Given the description of an element on the screen output the (x, y) to click on. 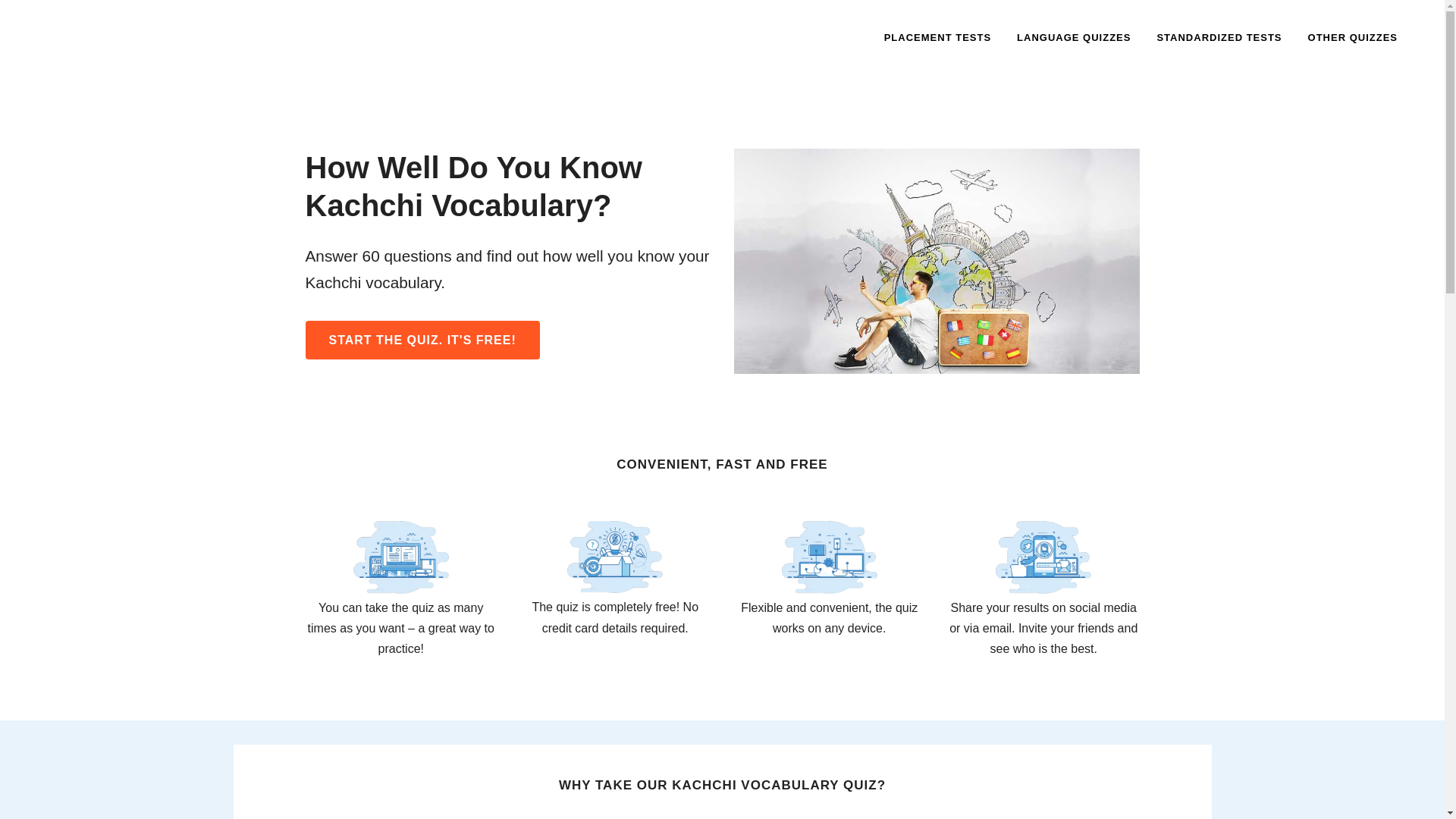
t4 (1042, 556)
t5 (829, 556)
PLACEMENT TESTS (937, 38)
t6 (614, 556)
LANGUAGE QUIZZES (1073, 38)
OTHER QUIZZES (1352, 38)
international (936, 260)
t2 (400, 556)
STANDARDIZED TESTS (1218, 38)
